Given the description of an element on the screen output the (x, y) to click on. 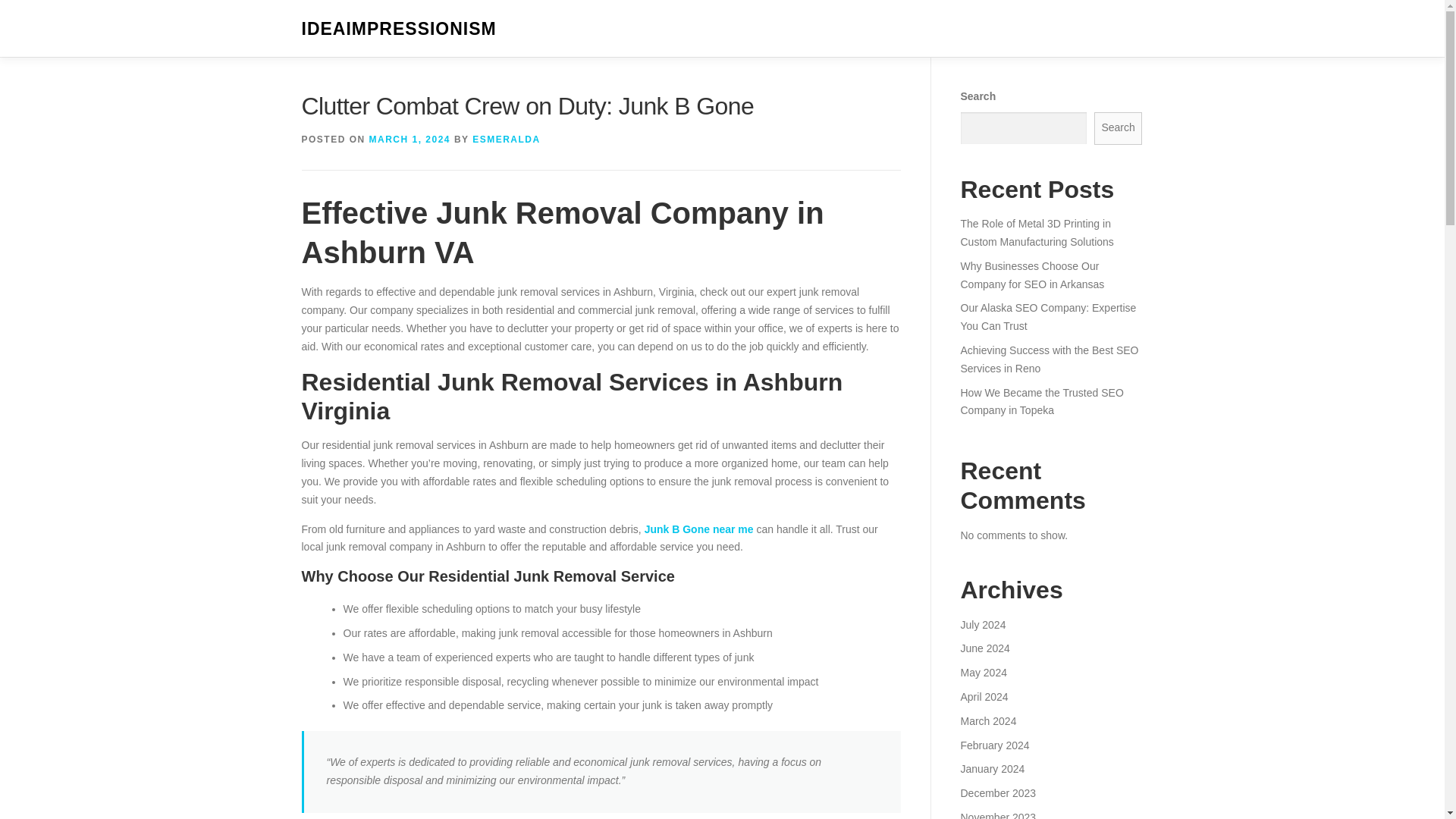
Our Alaska SEO Company: Expertise You Can Trust (1047, 317)
December 2023 (997, 793)
November 2023 (997, 815)
January 2024 (992, 768)
Why Businesses Choose Our Company for SEO in Arkansas (1031, 275)
April 2024 (983, 696)
MARCH 1, 2024 (410, 139)
July 2024 (982, 624)
February 2024 (994, 744)
IDEAIMPRESSIONISM (398, 29)
ESMERALDA (505, 139)
May 2024 (982, 672)
Achieving Success with the Best SEO Services in Reno (1048, 358)
March 2024 (987, 720)
